Given the description of an element on the screen output the (x, y) to click on. 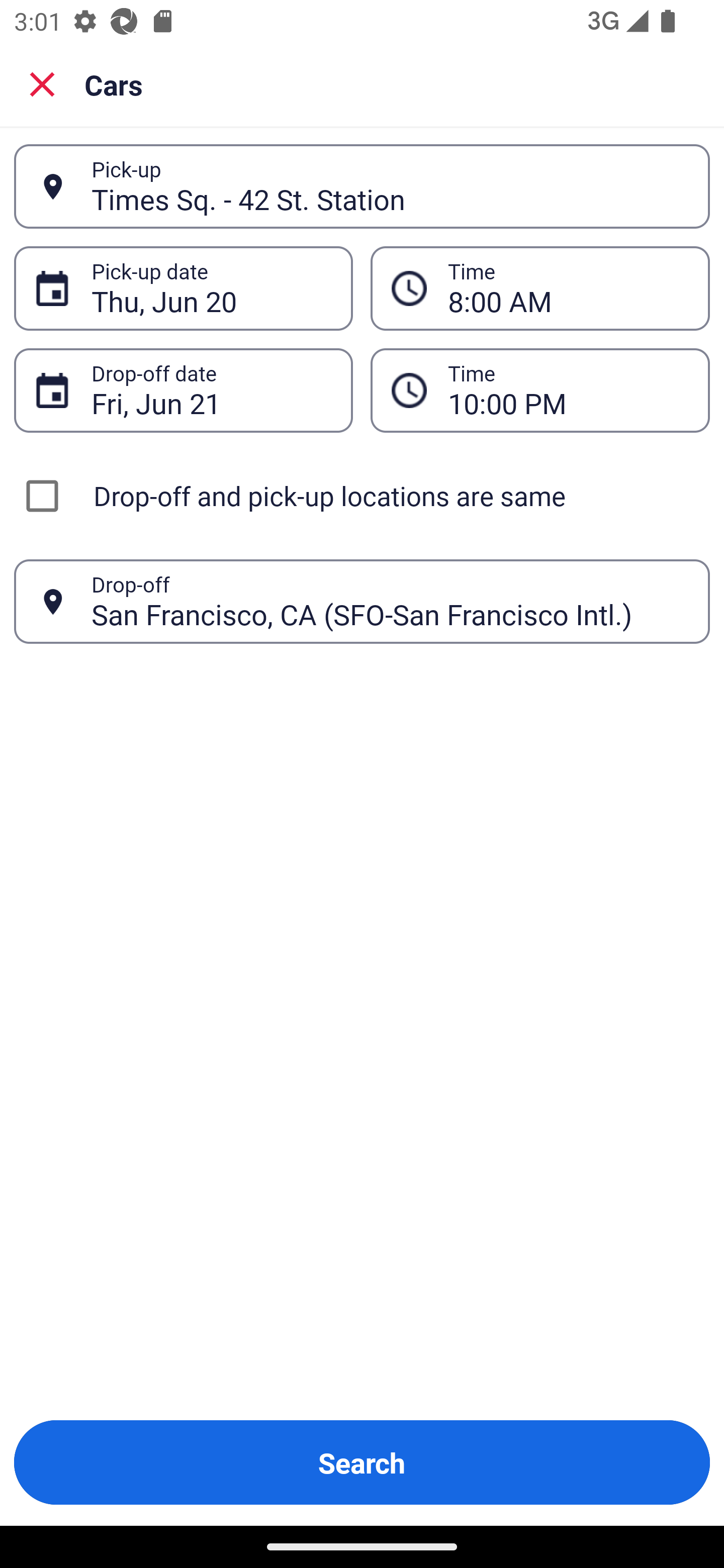
Close search screen (41, 83)
Times Sq. - 42 St. Station Pick-up (361, 186)
Times Sq. - 42 St. Station (389, 186)
Thu, Jun 20 Pick-up date (183, 288)
8:00 AM (540, 288)
Thu, Jun 20 (211, 288)
8:00 AM (568, 288)
Fri, Jun 21 Drop-off date (183, 390)
10:00 PM (540, 390)
Fri, Jun 21 (211, 390)
10:00 PM (568, 390)
Drop-off and pick-up locations are same (361, 495)
San Francisco, CA (SFO-San Francisco Intl.) (389, 601)
Search Button Search (361, 1462)
